Given the description of an element on the screen output the (x, y) to click on. 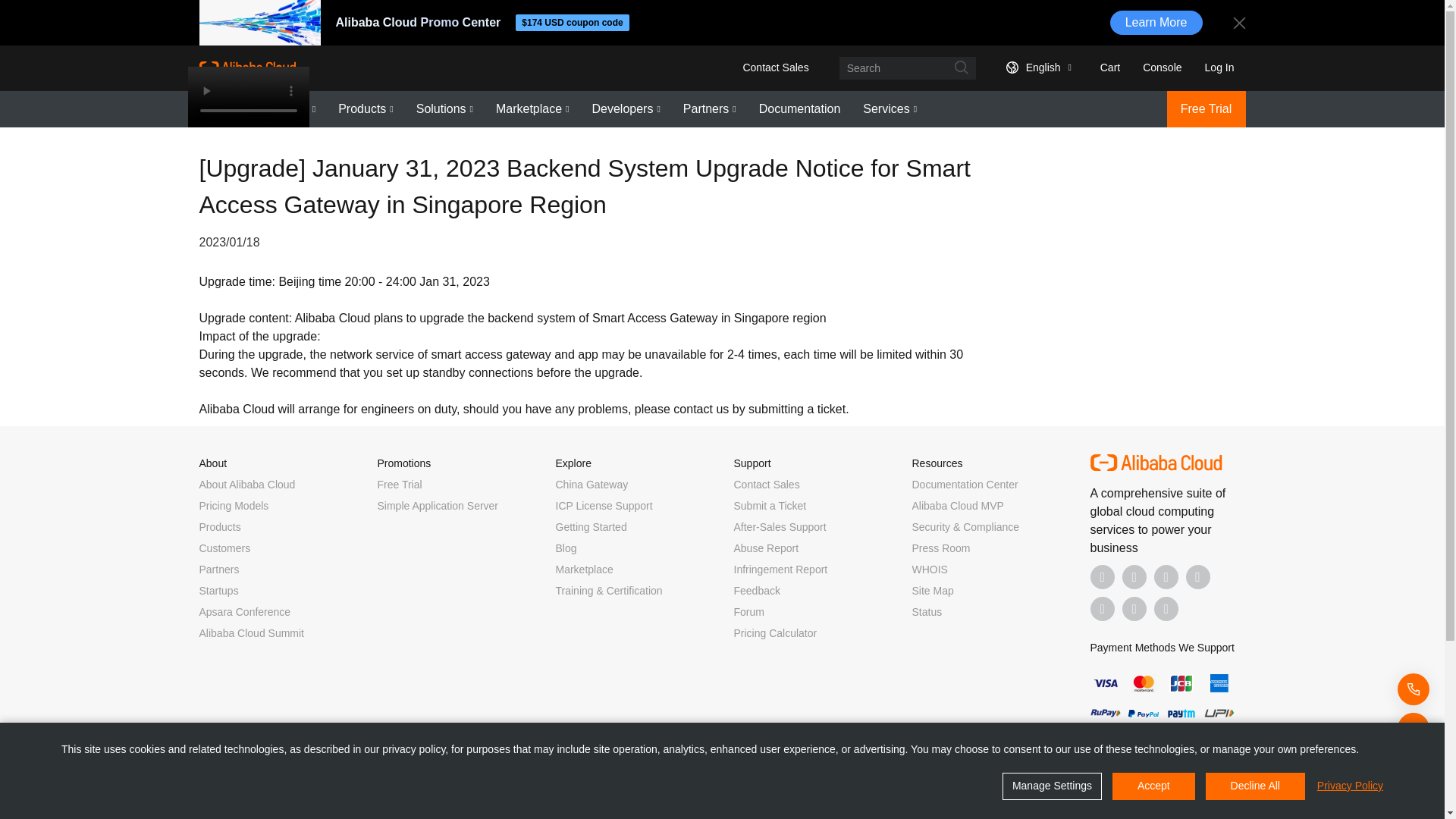
English (1035, 67)
Linkedin (1134, 576)
Call Us Now (1165, 608)
Twitter (1165, 576)
Alibaba Cloud (246, 67)
TikTok (1102, 608)
Contact Sales (774, 67)
Facebook (1102, 576)
YouTube (1197, 576)
